Given the description of an element on the screen output the (x, y) to click on. 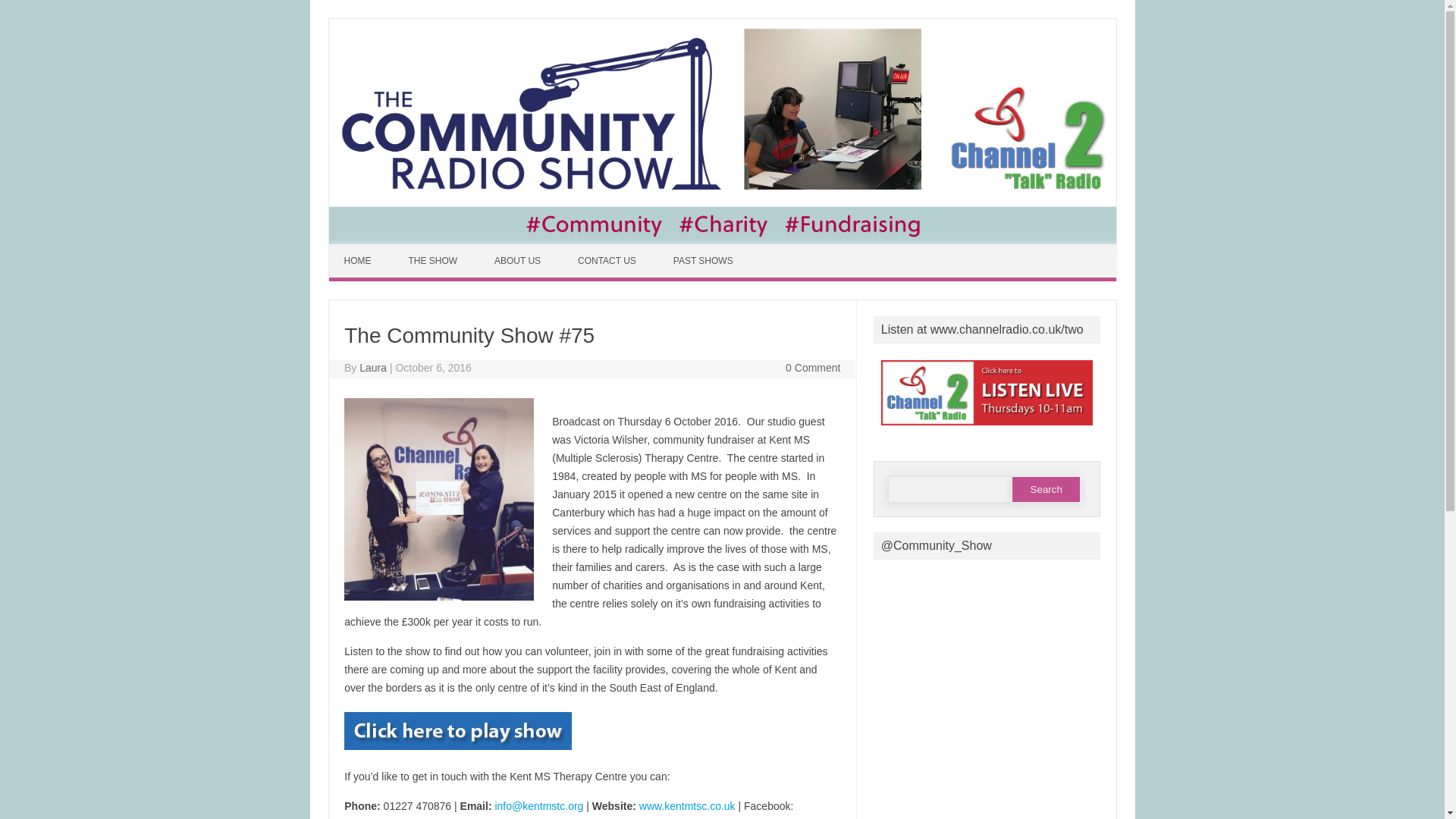
THE SHOW (434, 260)
Search (1045, 488)
HOME (359, 260)
CONTACT US (608, 260)
Skip to content (363, 249)
PAST SHOWS (705, 260)
0 Comment (813, 367)
ABOUT US (519, 260)
www.kentmtsc.co.uk (687, 806)
The Community Radio Show (722, 240)
